Given the description of an element on the screen output the (x, y) to click on. 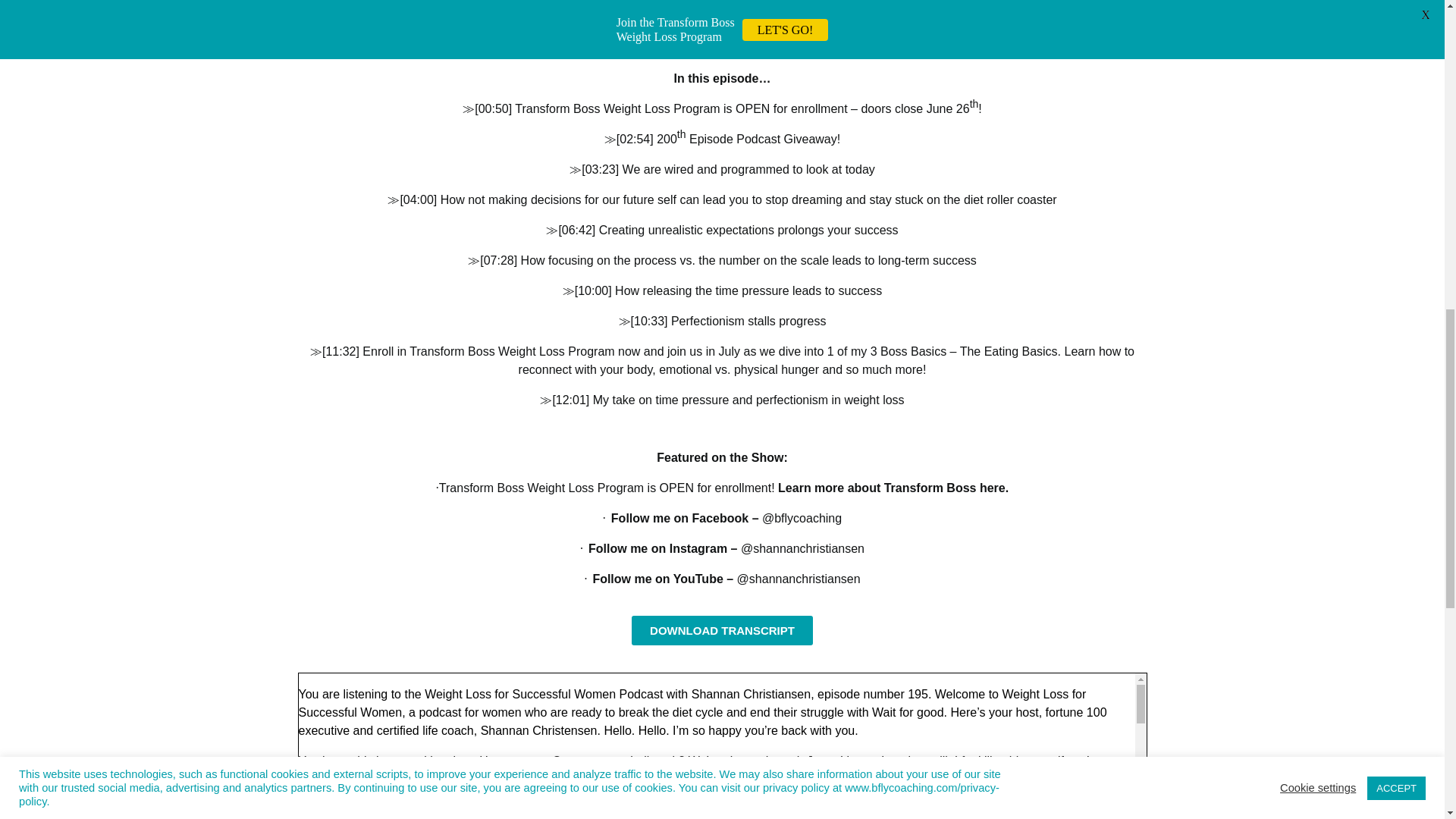
Follow me on Facebook (679, 517)
Follow me on YouTube (657, 578)
DOWNLOAD TRANSCRIPT (721, 630)
Learn more about Transform Boss here. (893, 487)
